Given the description of an element on the screen output the (x, y) to click on. 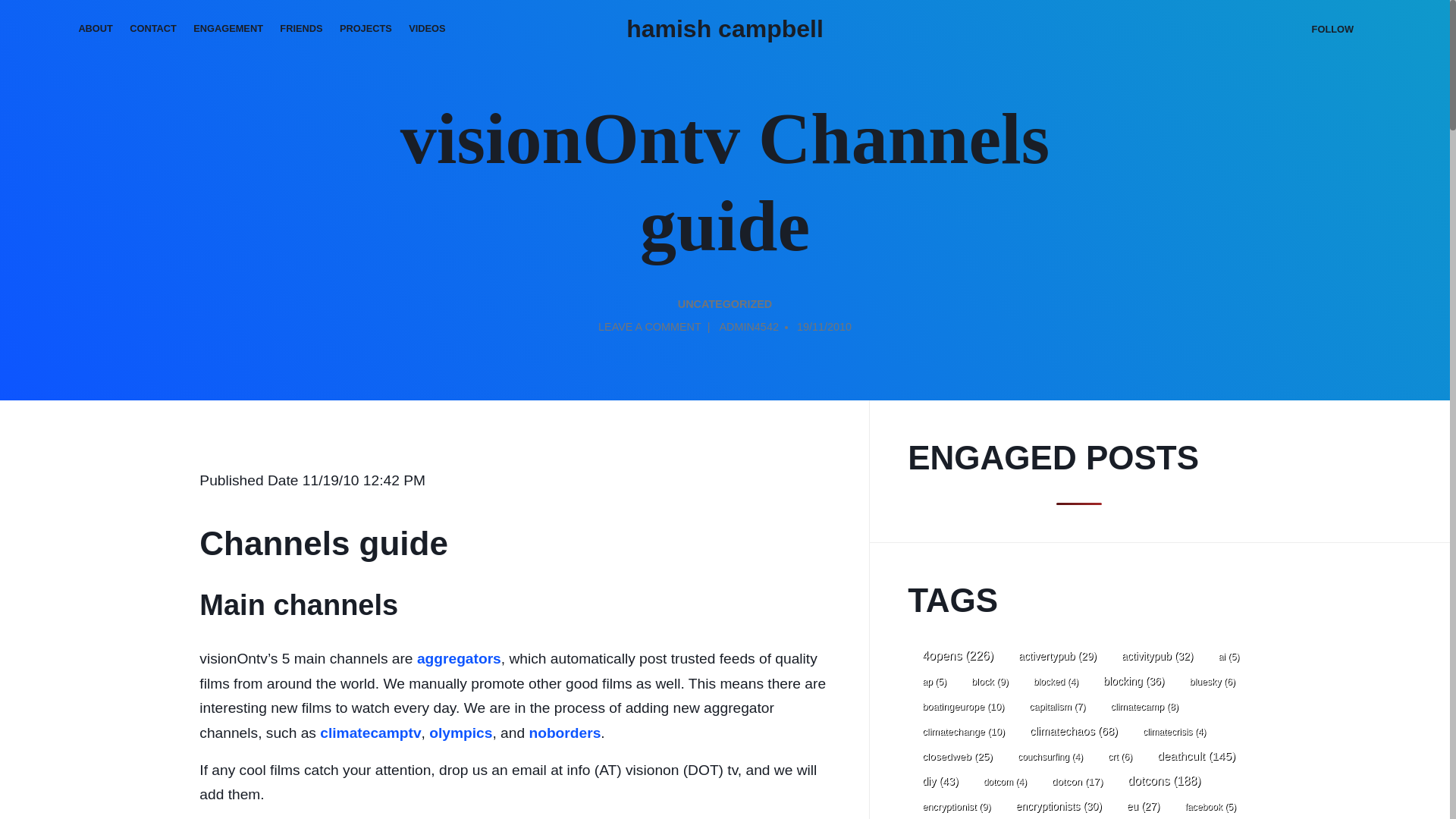
hamish campbell (725, 28)
Hamish Campbell (725, 28)
VIDEOS (427, 28)
ENGAGEMENT (227, 28)
ABOUT (94, 28)
PROJECTS (365, 28)
CONTACT (152, 28)
FRIENDS (300, 28)
FOLLOW (1332, 29)
Uncategorized (724, 305)
